Given the description of an element on the screen output the (x, y) to click on. 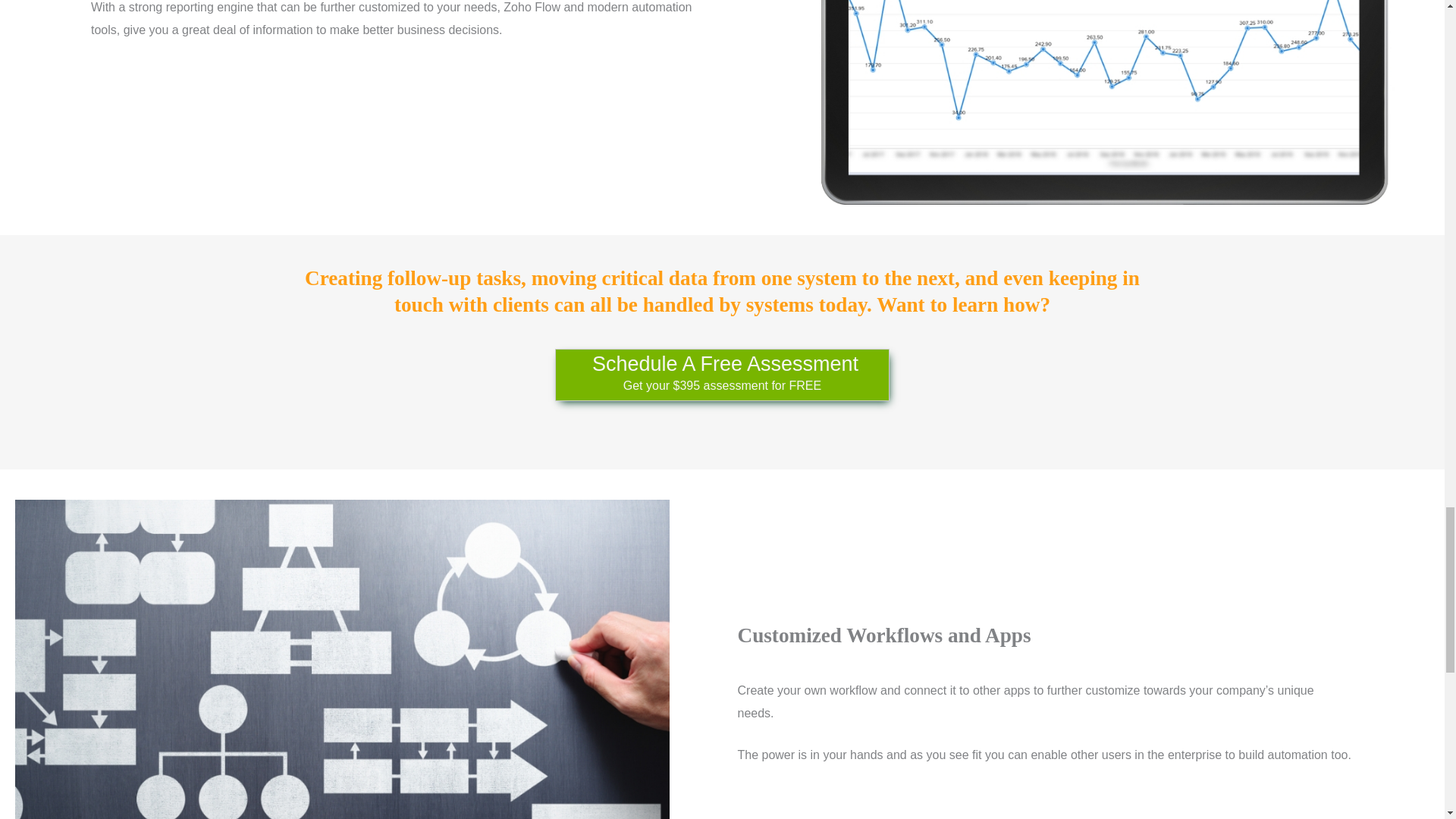
Reporting and Insights (1101, 102)
